Given the description of an element on the screen output the (x, y) to click on. 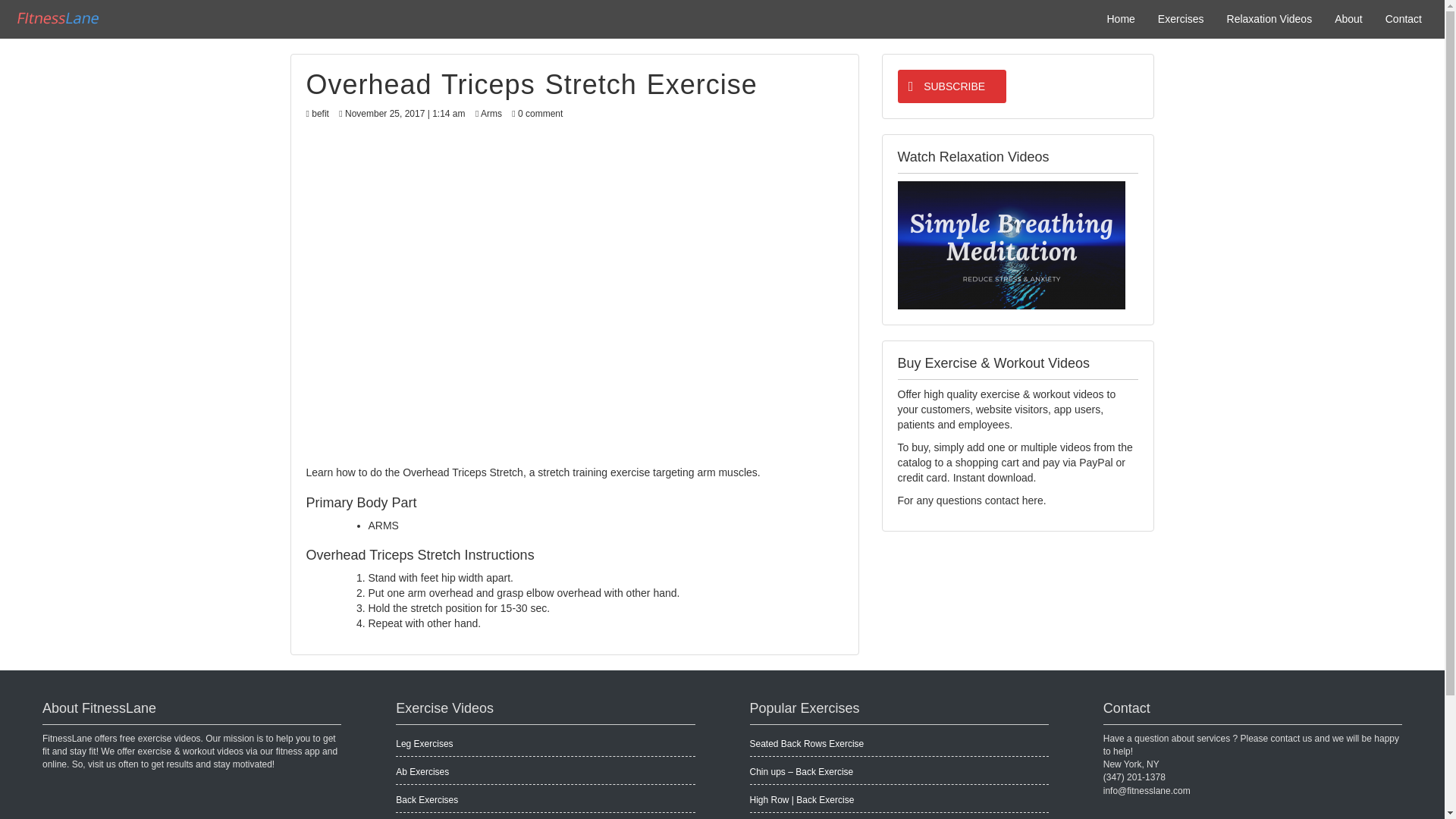
Home (1119, 18)
Ab Exercises (422, 771)
0 comment (540, 113)
Contact (1403, 18)
Seated Back Rows Exercise (806, 743)
Back Exercises (427, 799)
Relaxation Videos (1269, 18)
contact here (1014, 500)
SUBSCRIBE (949, 86)
Arms (491, 113)
Exercises (1181, 18)
Home (1119, 18)
About (1348, 18)
Leg Exercises (424, 743)
Relaxation Videos (1269, 18)
